Given the description of an element on the screen output the (x, y) to click on. 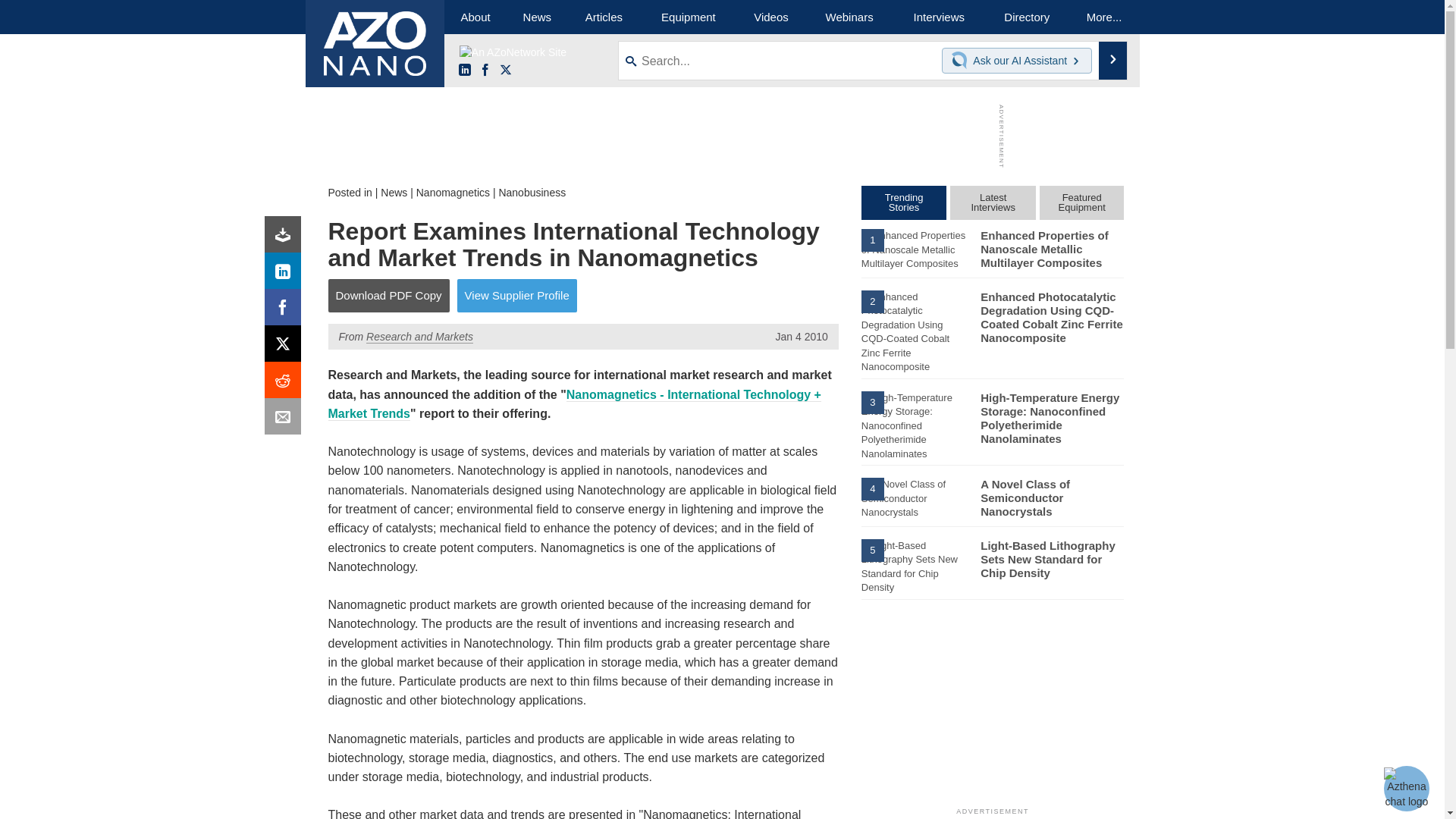
Articles (603, 17)
Equipment (688, 17)
Chat with our AI Assistant Ask our AI Assistant (1017, 60)
LinkedIn (464, 70)
More... (1104, 17)
Reddit (285, 384)
News (536, 17)
Directory (1026, 17)
Videos (770, 17)
